Given the description of an element on the screen output the (x, y) to click on. 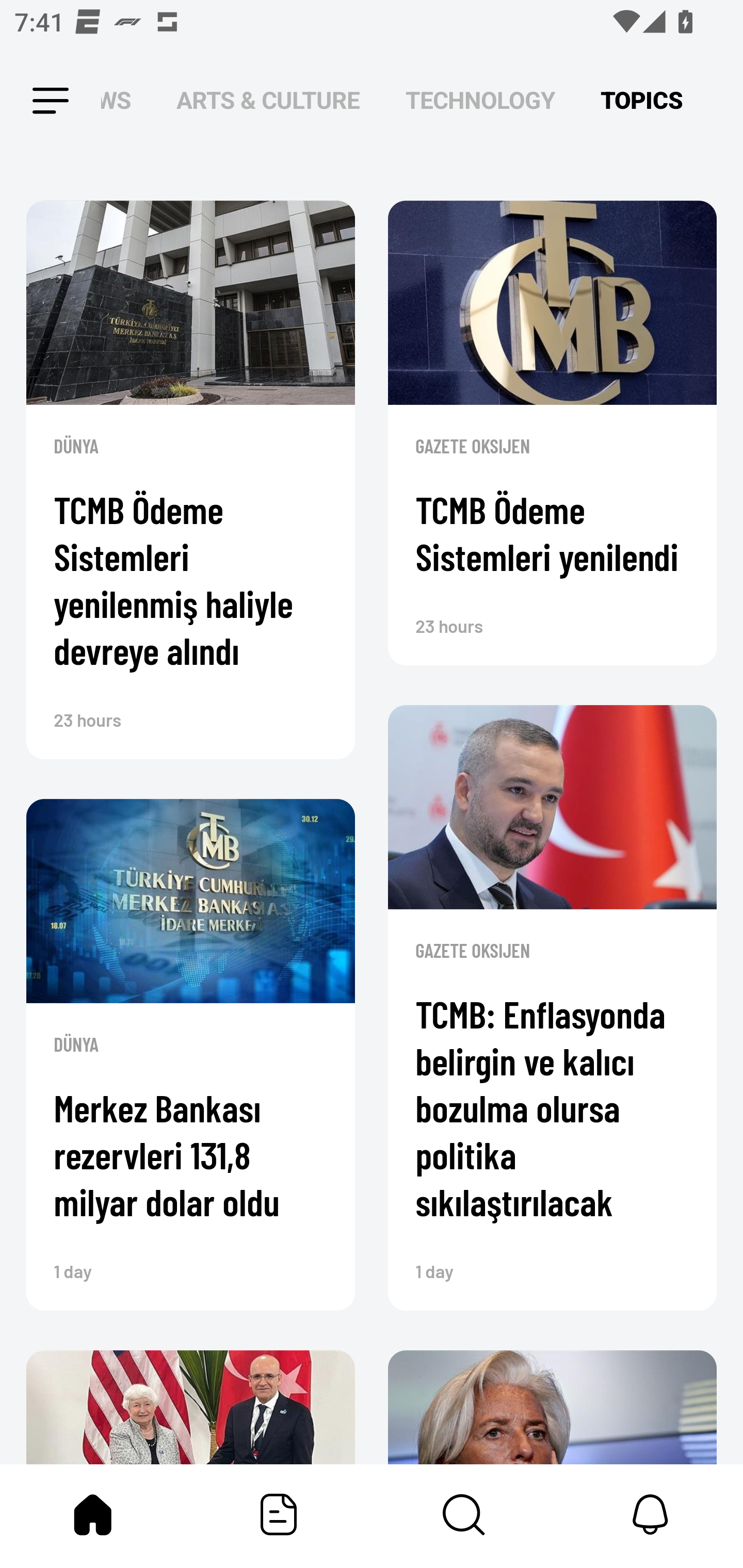
Leading Icon (32, 101)
NEWS (121, 100)
ARTS & CULTURE (268, 100)
TECHNOLOGY (480, 100)
Featured (278, 1514)
Content Store (464, 1514)
Notifications (650, 1514)
